Given the description of an element on the screen output the (x, y) to click on. 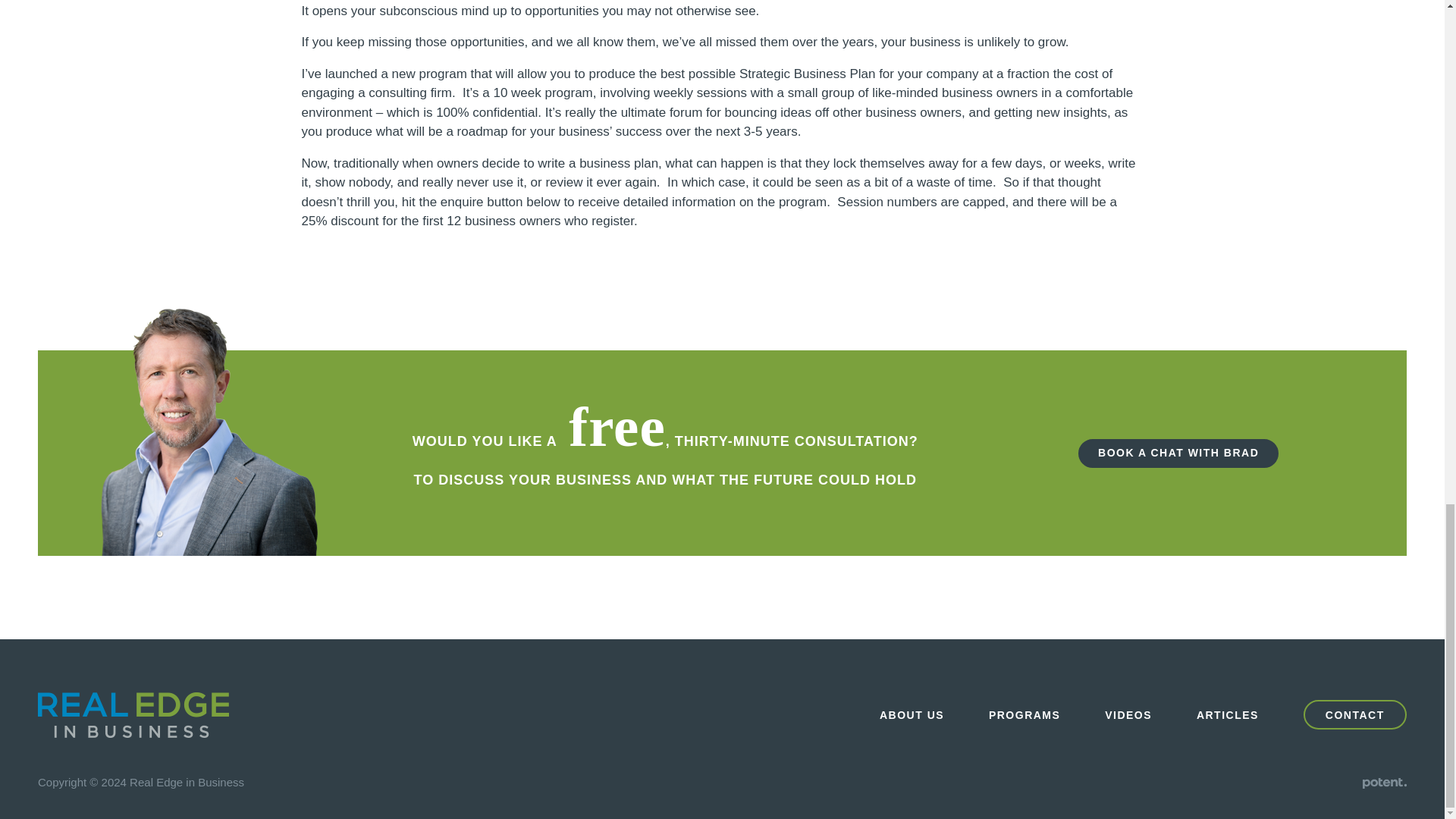
VIDEOS (1128, 715)
ABOUT US (911, 715)
CONTACT (1354, 714)
BOOK A CHAT WITH BRAD (1178, 452)
ARTICLES (1227, 715)
PROGRAMS (1023, 715)
